Given the description of an element on the screen output the (x, y) to click on. 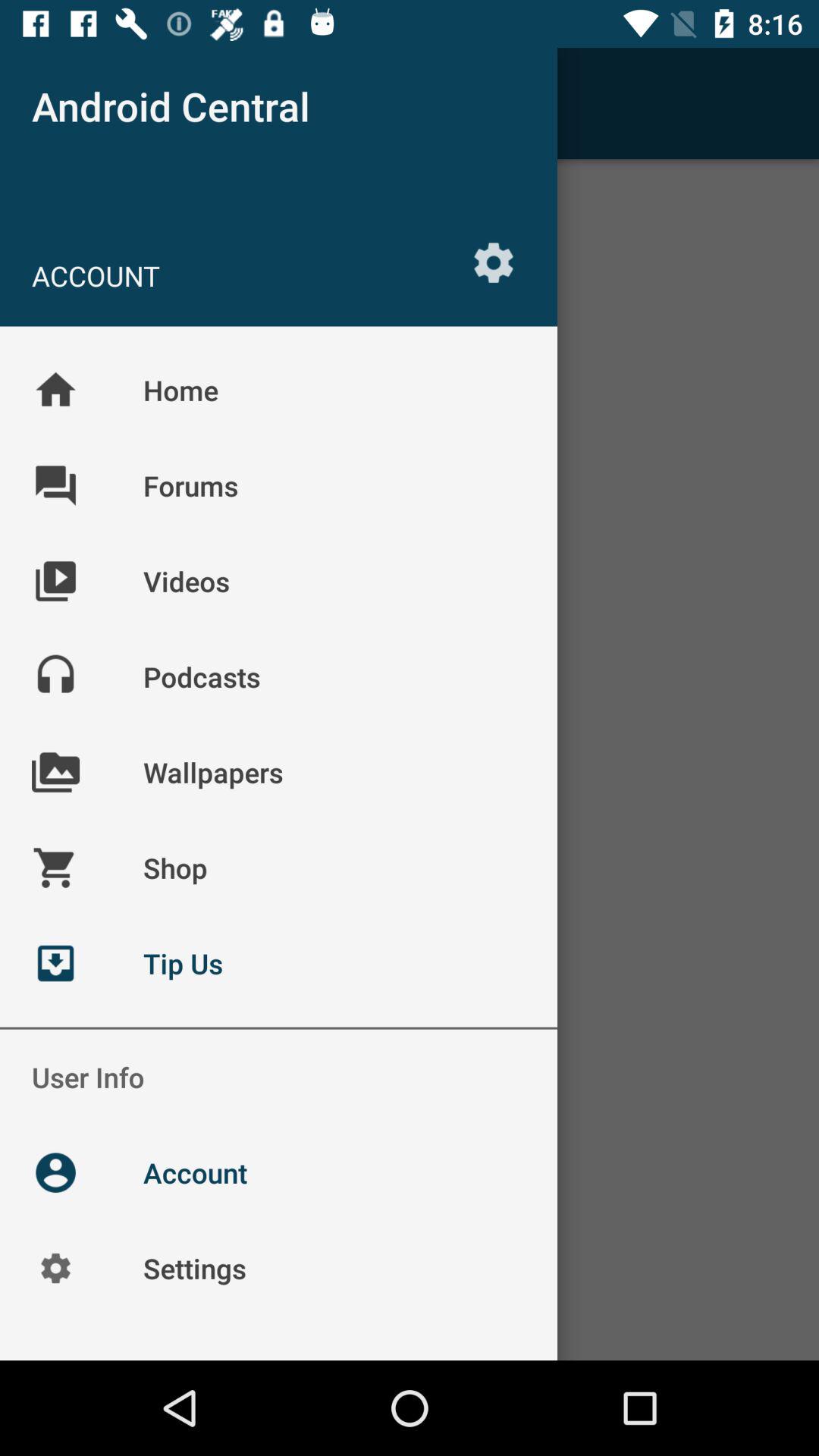
press the item above account (55, 103)
